Given the description of an element on the screen output the (x, y) to click on. 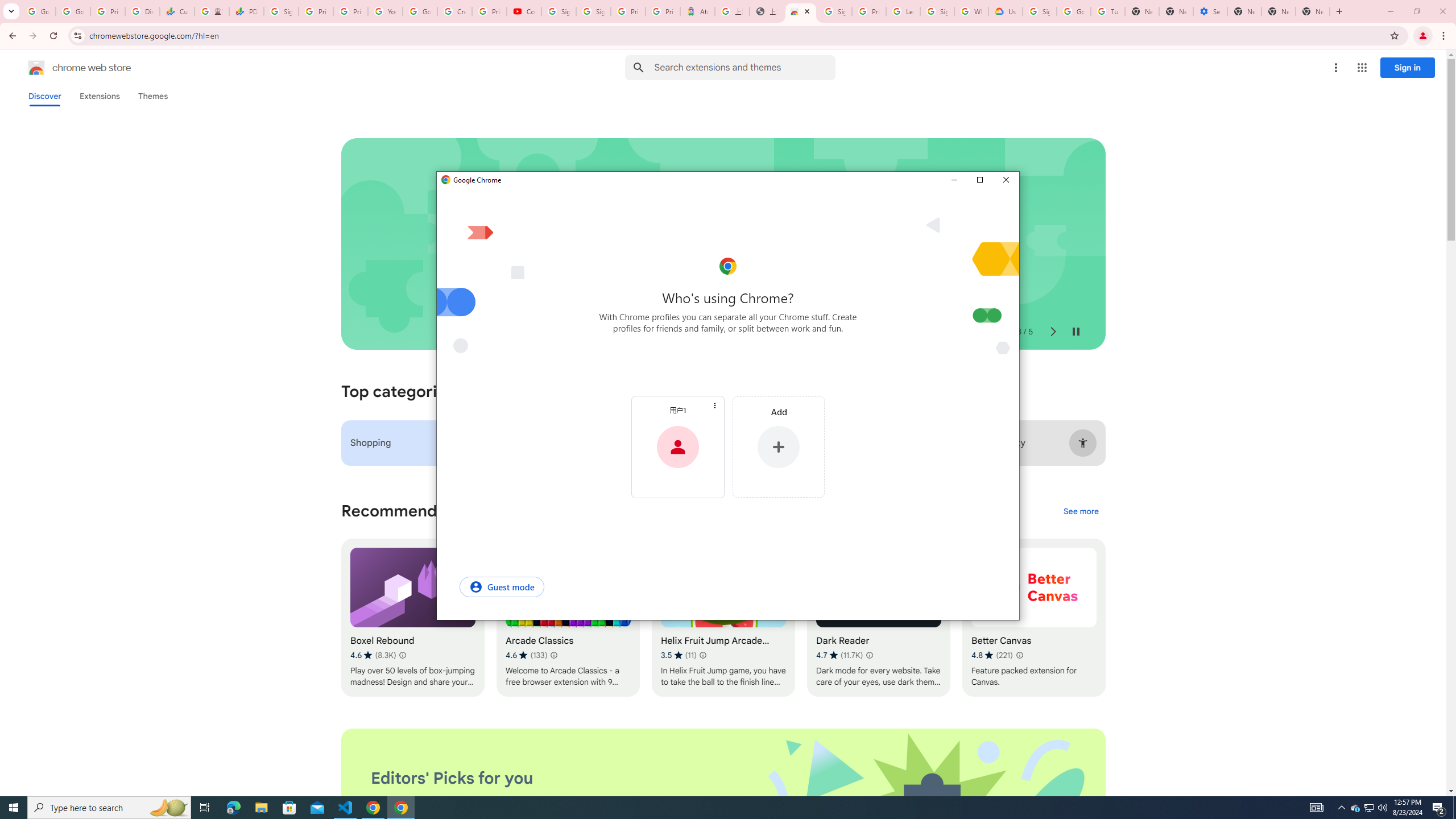
AutomationID: 4105 (1316, 807)
YouTube (384, 11)
Q2790: 100% (1382, 807)
Pause auto-play (1075, 331)
Show desktop (1454, 807)
User Promoted Notification Area (1368, 807)
Google Account Help (1073, 11)
Extensions (99, 95)
